Given the description of an element on the screen output the (x, y) to click on. 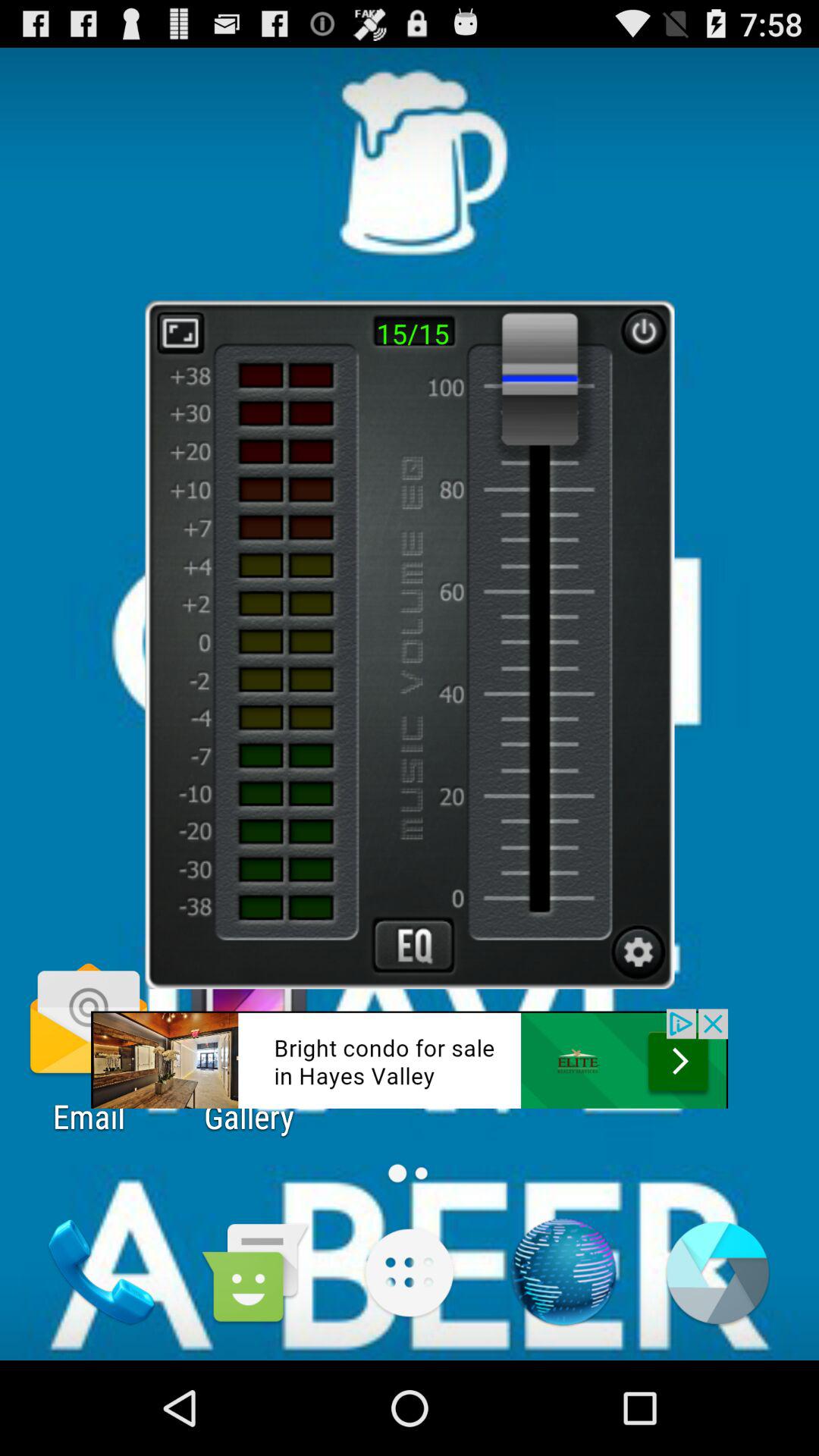
size the pages (179, 332)
